Given the description of an element on the screen output the (x, y) to click on. 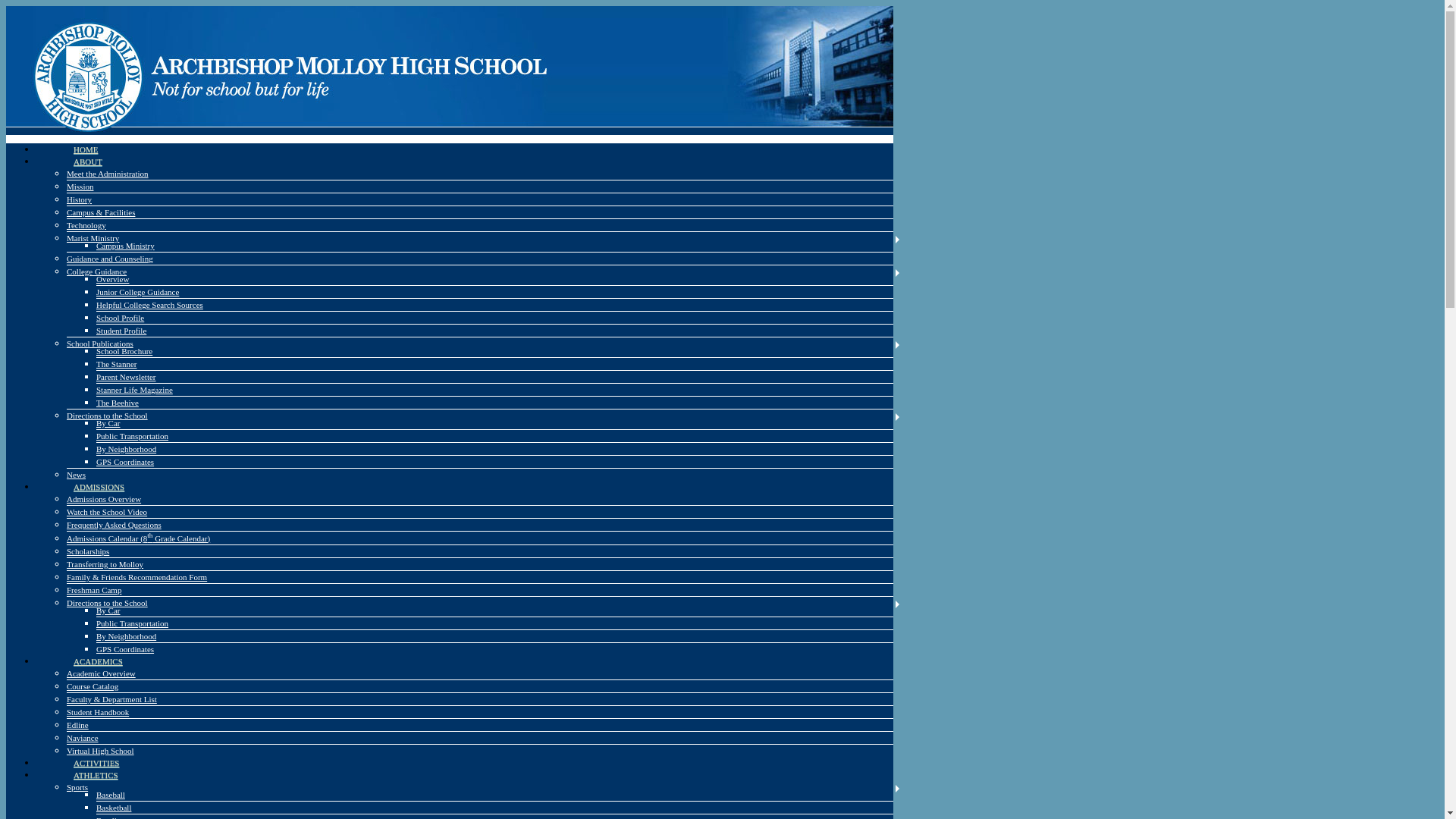
Frequently Asked Questions (113, 524)
Freshman Camp (93, 589)
Student Profile (121, 329)
Junior College Guidance (137, 291)
Campus Ministry (125, 245)
Stanner Life Magazine (134, 388)
Meet the Administration (107, 173)
Directions to the School (107, 602)
By Car (107, 610)
Transferring to Molloy (104, 563)
